Given the description of an element on the screen output the (x, y) to click on. 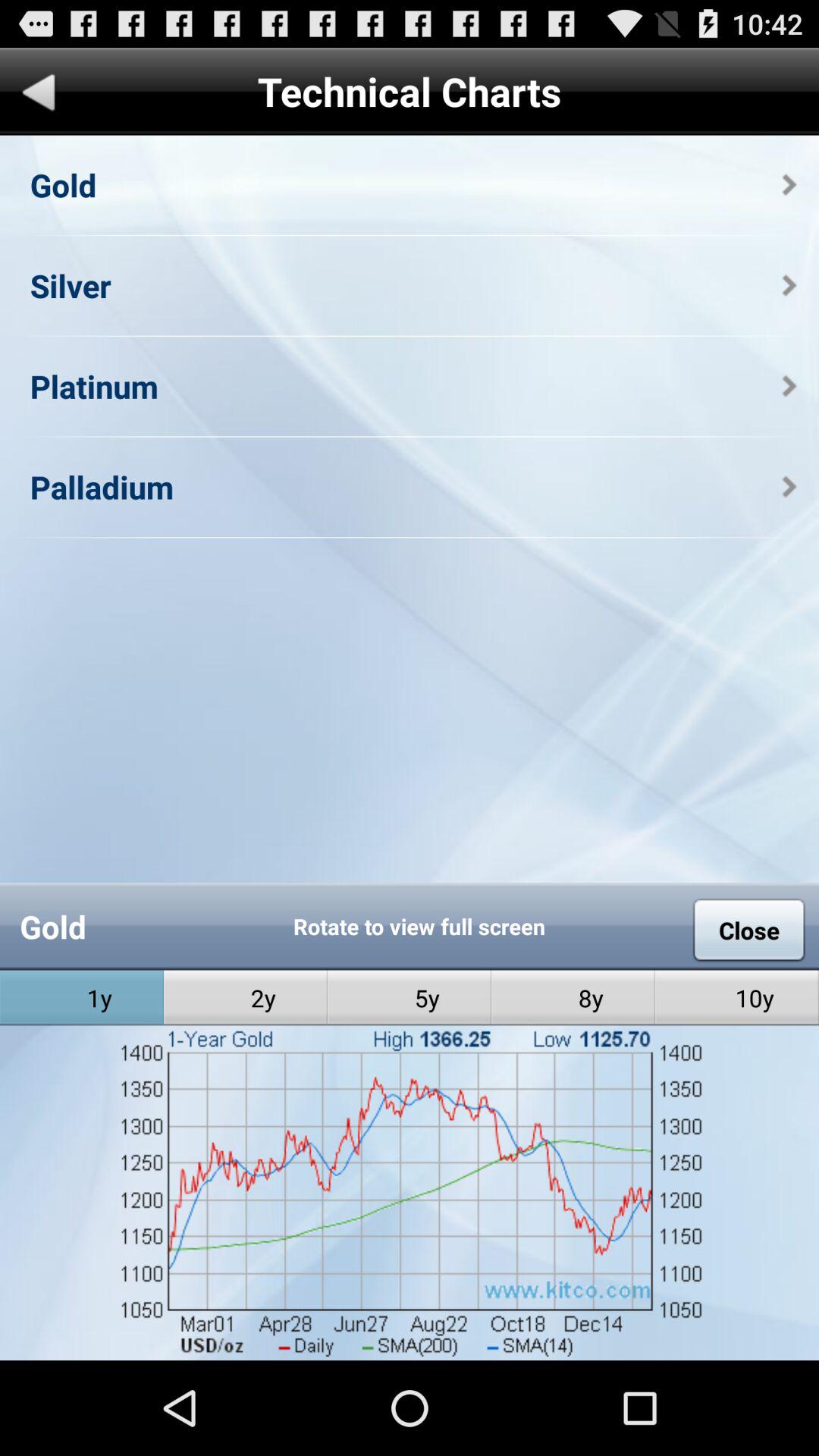
open graph (409, 1310)
